Given the description of an element on the screen output the (x, y) to click on. 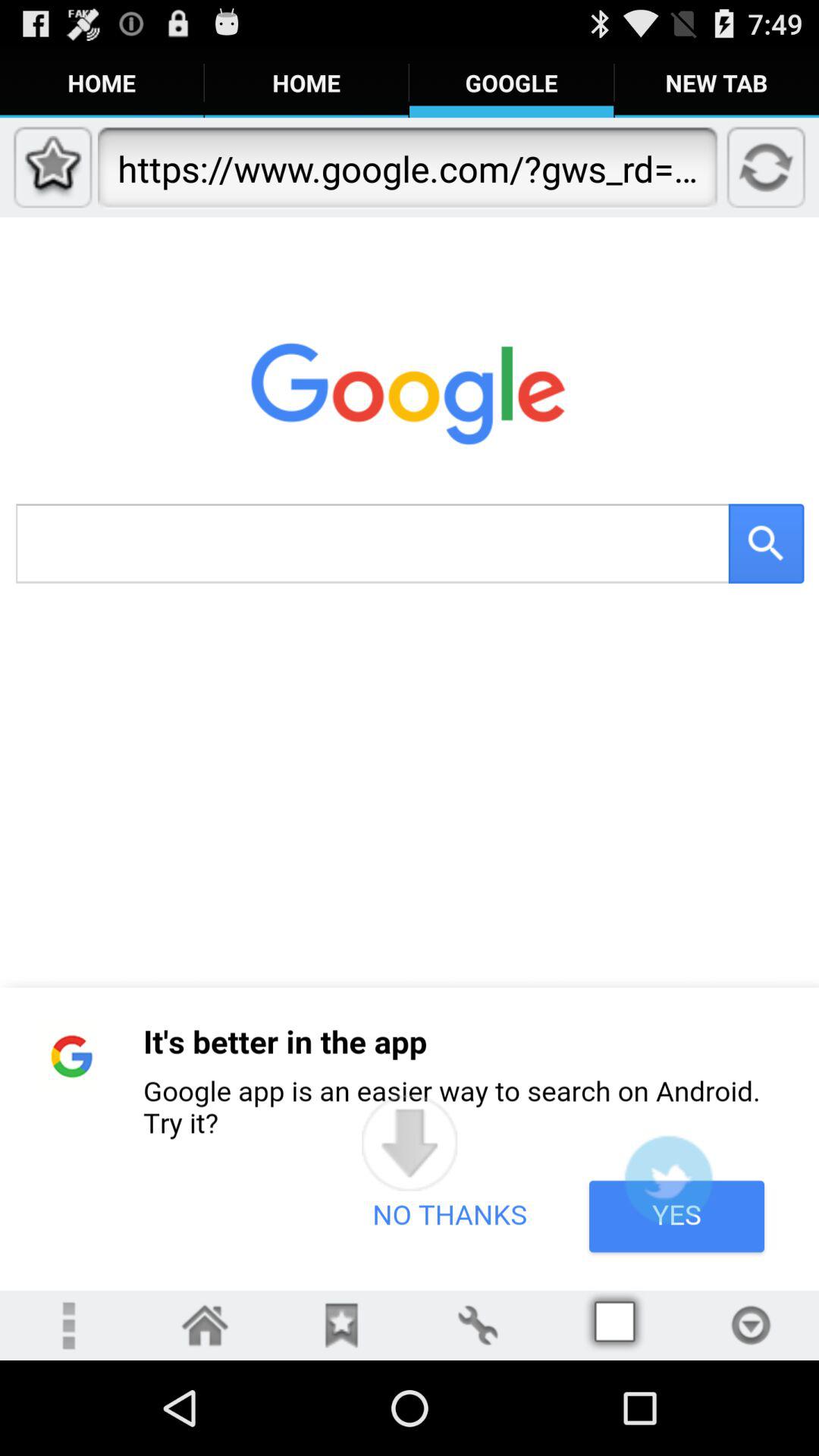
drop down main menu (68, 1325)
